Given the description of an element on the screen output the (x, y) to click on. 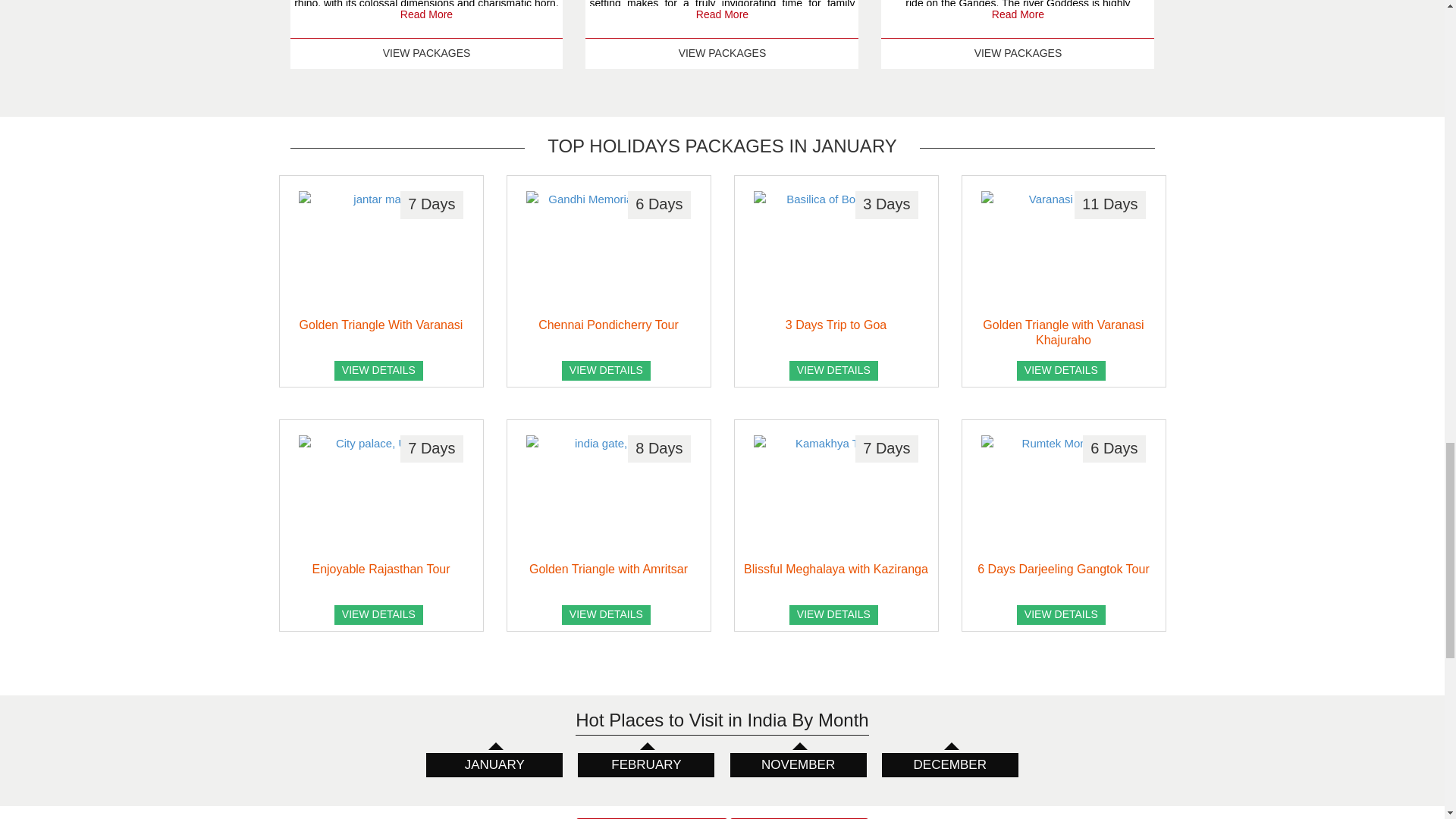
Basilica of Bom Jesus (836, 251)
 Gandhi Memorial (607, 251)
Places to visit in sikkim (1063, 495)
Varanasi temple (1063, 251)
india gate, delhi (607, 495)
jantar mantar (380, 251)
City palace, Udaipur (380, 495)
